Given the description of an element on the screen output the (x, y) to click on. 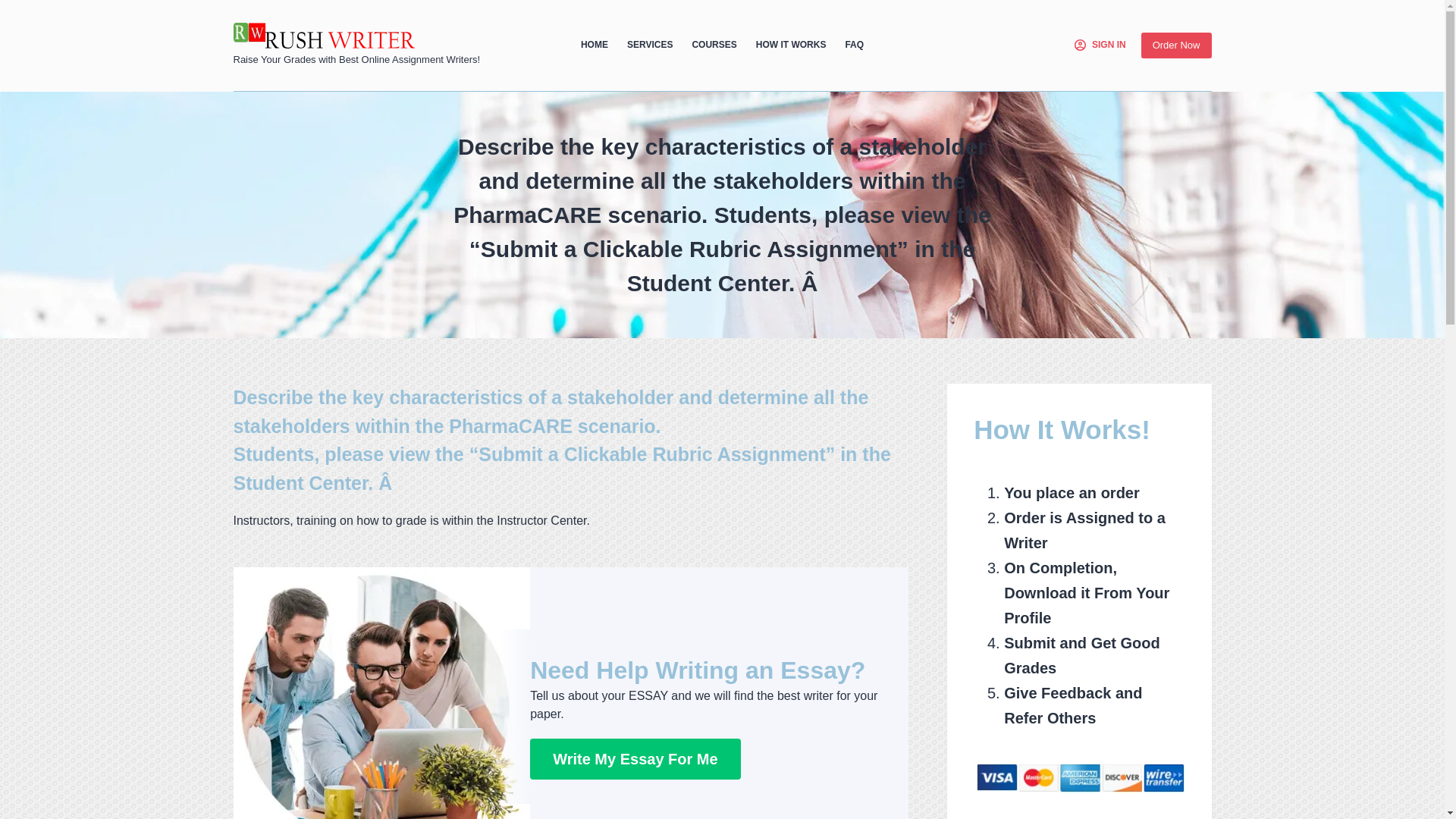
Skip to content (15, 7)
SIGN IN (1099, 45)
Order Now (1176, 45)
Write My Essay For Me (634, 758)
HOW IT WORKS (790, 45)
